Given the description of an element on the screen output the (x, y) to click on. 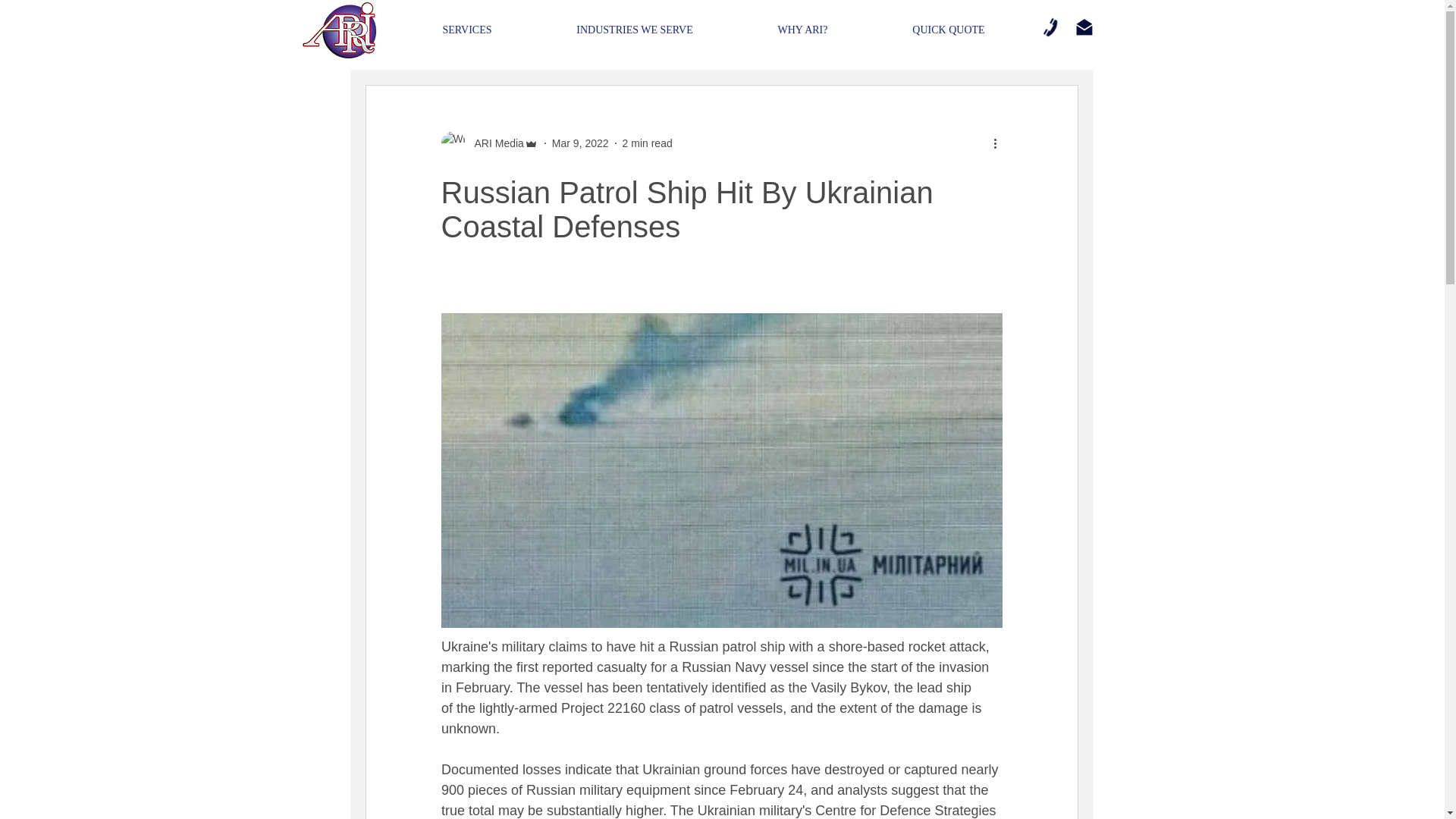
2 min read (647, 142)
QUICK QUOTE (948, 30)
ARI Media (494, 142)
Mar 9, 2022 (579, 142)
